Given the description of an element on the screen output the (x, y) to click on. 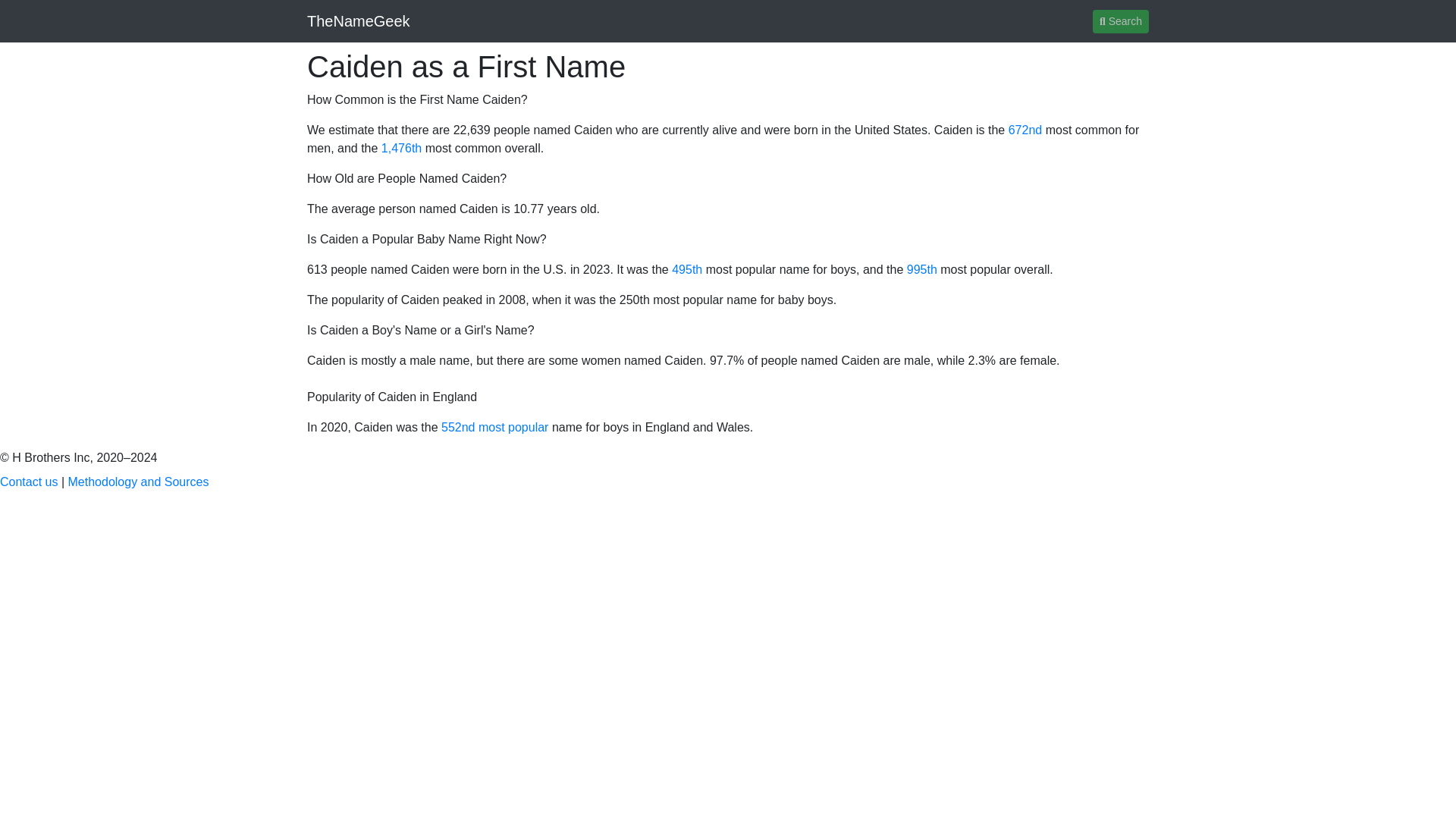
Methodology and Sources (138, 481)
495th (686, 269)
1,476th (401, 147)
672nd (1025, 129)
TheNameGeek (358, 20)
Contact us (29, 481)
Search (1120, 20)
552nd most popular (494, 427)
995th (922, 269)
